Given the description of an element on the screen output the (x, y) to click on. 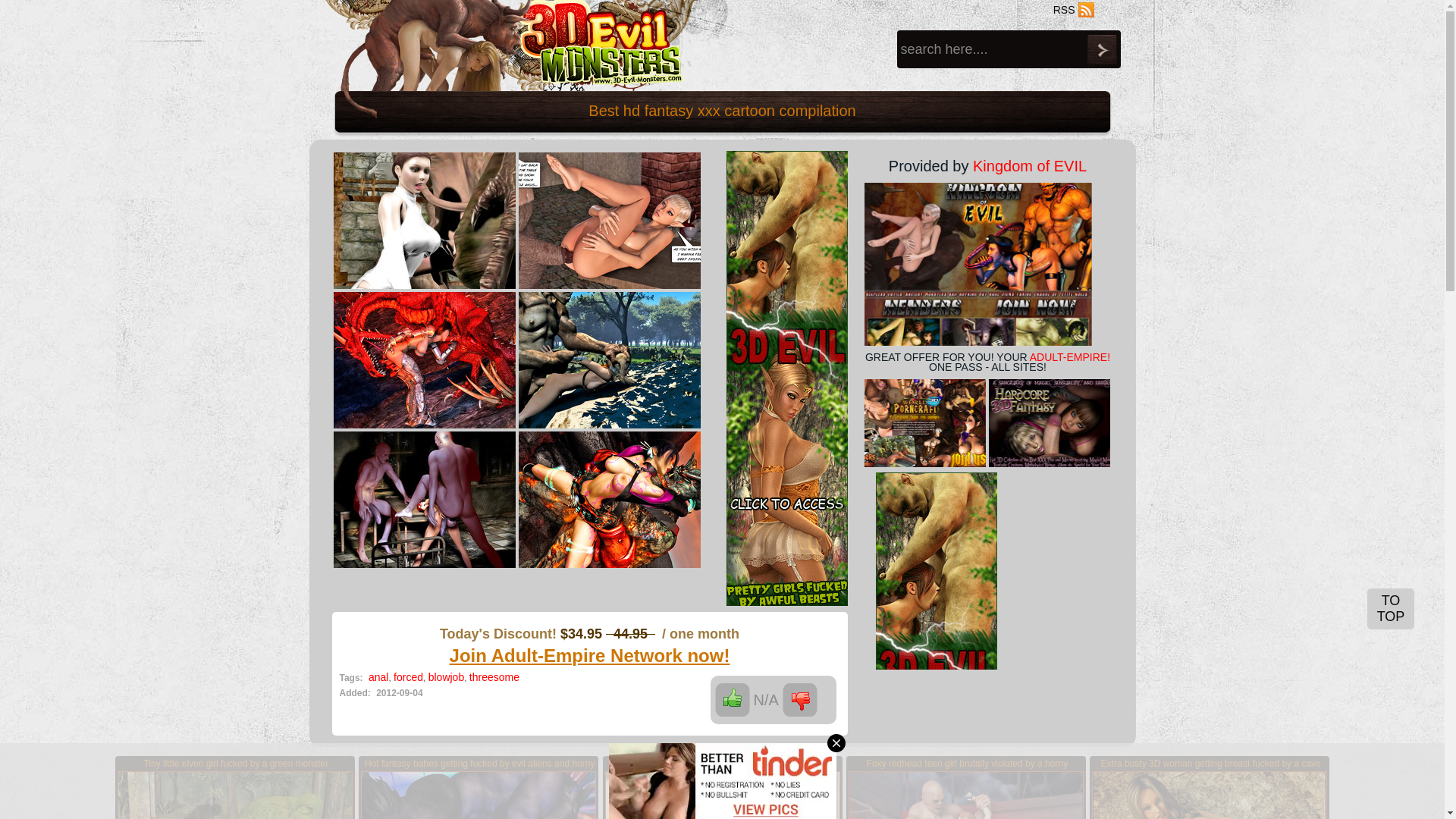
Kingdom of EVIL Element type: text (1029, 165)
RSS Element type: text (1073, 9)
threesome Element type: text (494, 677)
anal Element type: text (378, 677)
TO TOP Element type: text (1390, 608)
forced Element type: text (408, 677)
Join Adult-Empire Network now! Element type: text (589, 655)
3d evil Element type: hover (786, 379)
blowjob Element type: text (446, 677)
ADULT-EMPIRE! Element type: text (1069, 357)
3D Evil Monsters Element type: text (506, 45)
